Given the description of an element on the screen output the (x, y) to click on. 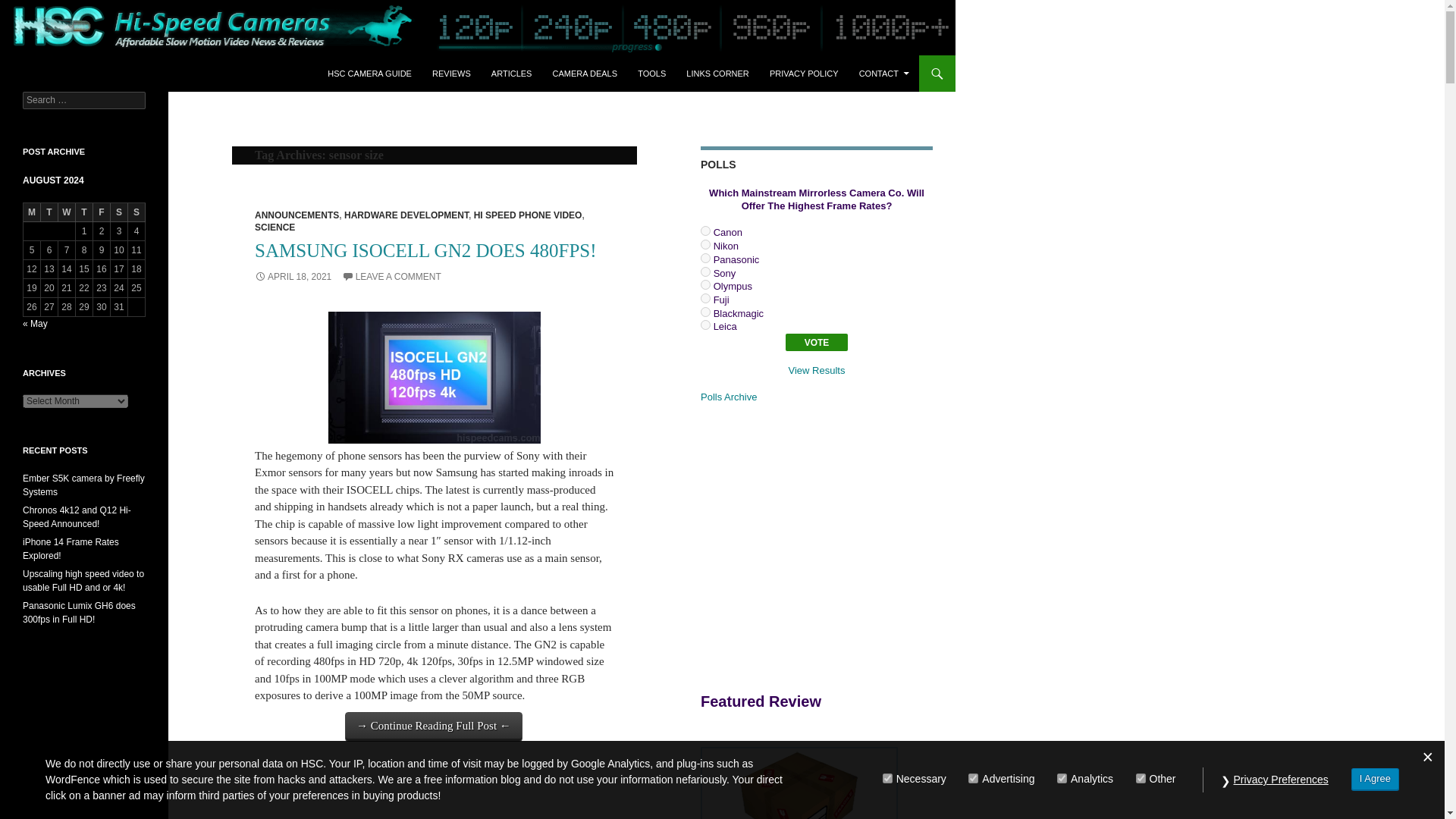
SCIENCE (274, 226)
Necessary (887, 777)
ARTICLES (511, 73)
Advertisement (827, 545)
49 (705, 230)
Analytics (1062, 777)
50 (705, 244)
HI SPEED PHONE VIDEO (528, 214)
Wednesday (66, 212)
Monday (31, 212)
